Given the description of an element on the screen output the (x, y) to click on. 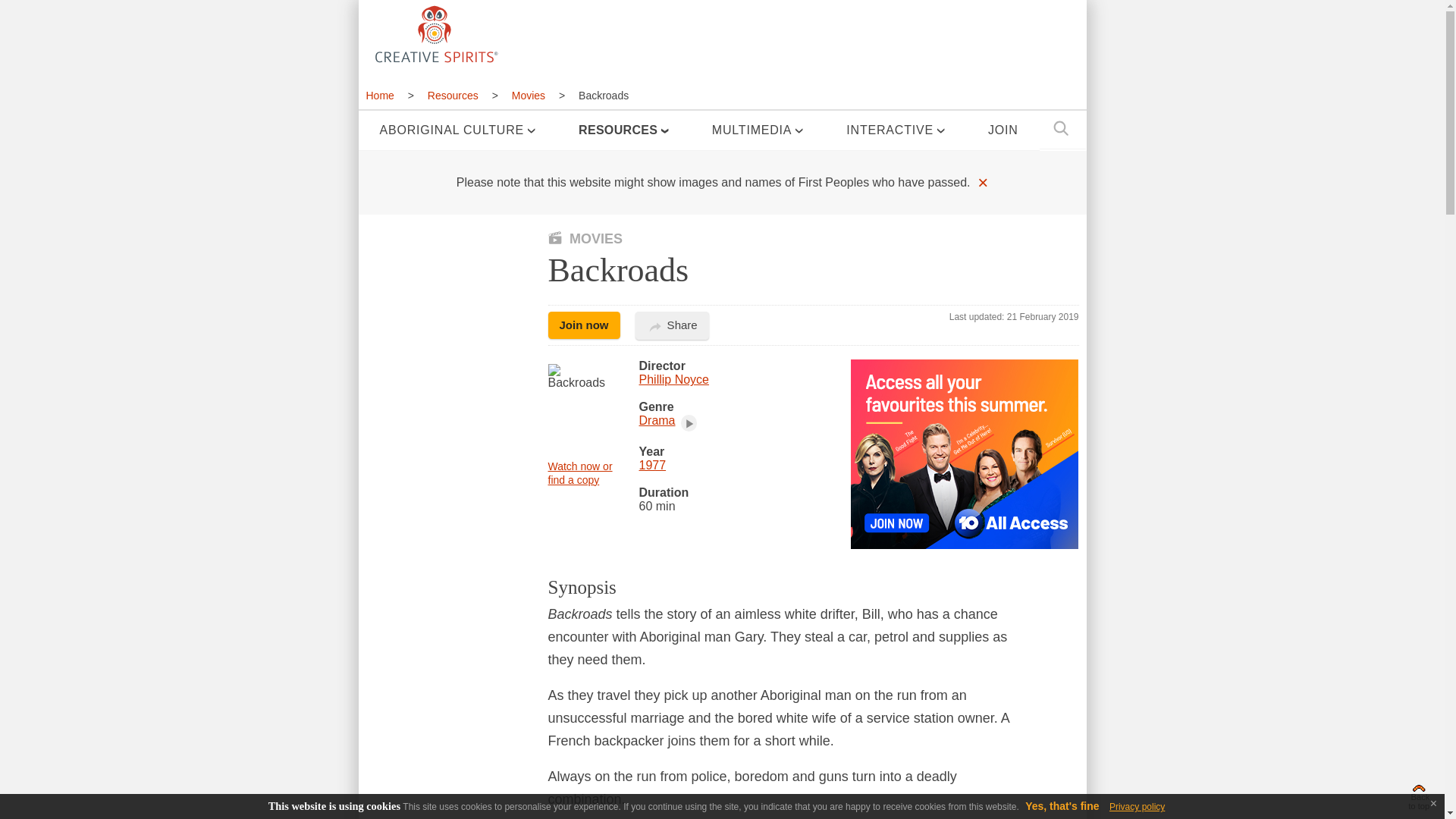
Explore more genres (689, 422)
Creative Spirits (433, 33)
RESOURCES (623, 130)
Movies (528, 94)
Resources (452, 94)
ABORIGINAL CULTURE (457, 130)
Home (384, 94)
